Given the description of an element on the screen output the (x, y) to click on. 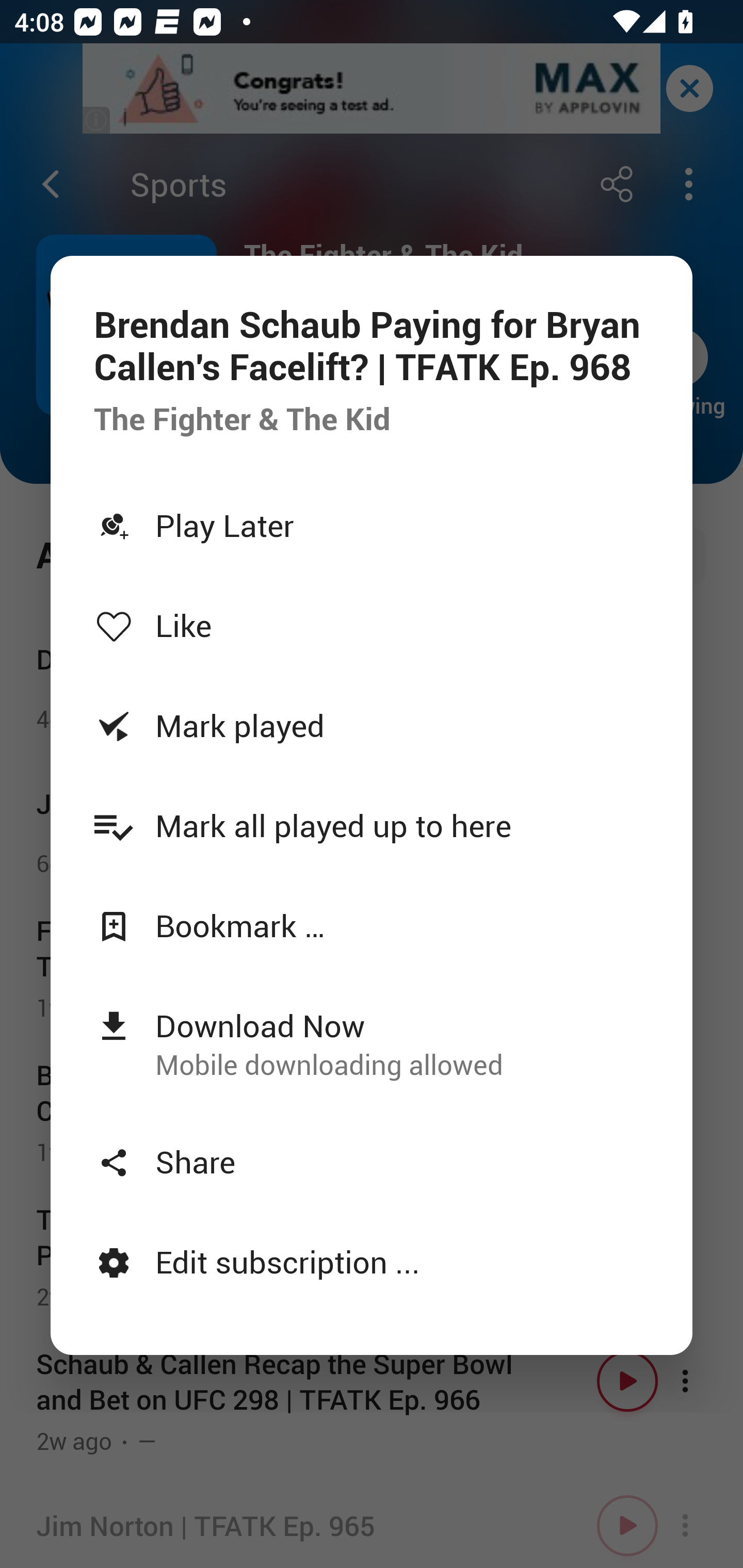
Play Later (371, 525)
Like (371, 625)
Mark played (371, 724)
Mark all played up to here (371, 824)
Bookmark … (371, 924)
Download Now Mobile downloading allowed (371, 1043)
Share (371, 1161)
Edit subscription ... (371, 1262)
